Given the description of an element on the screen output the (x, y) to click on. 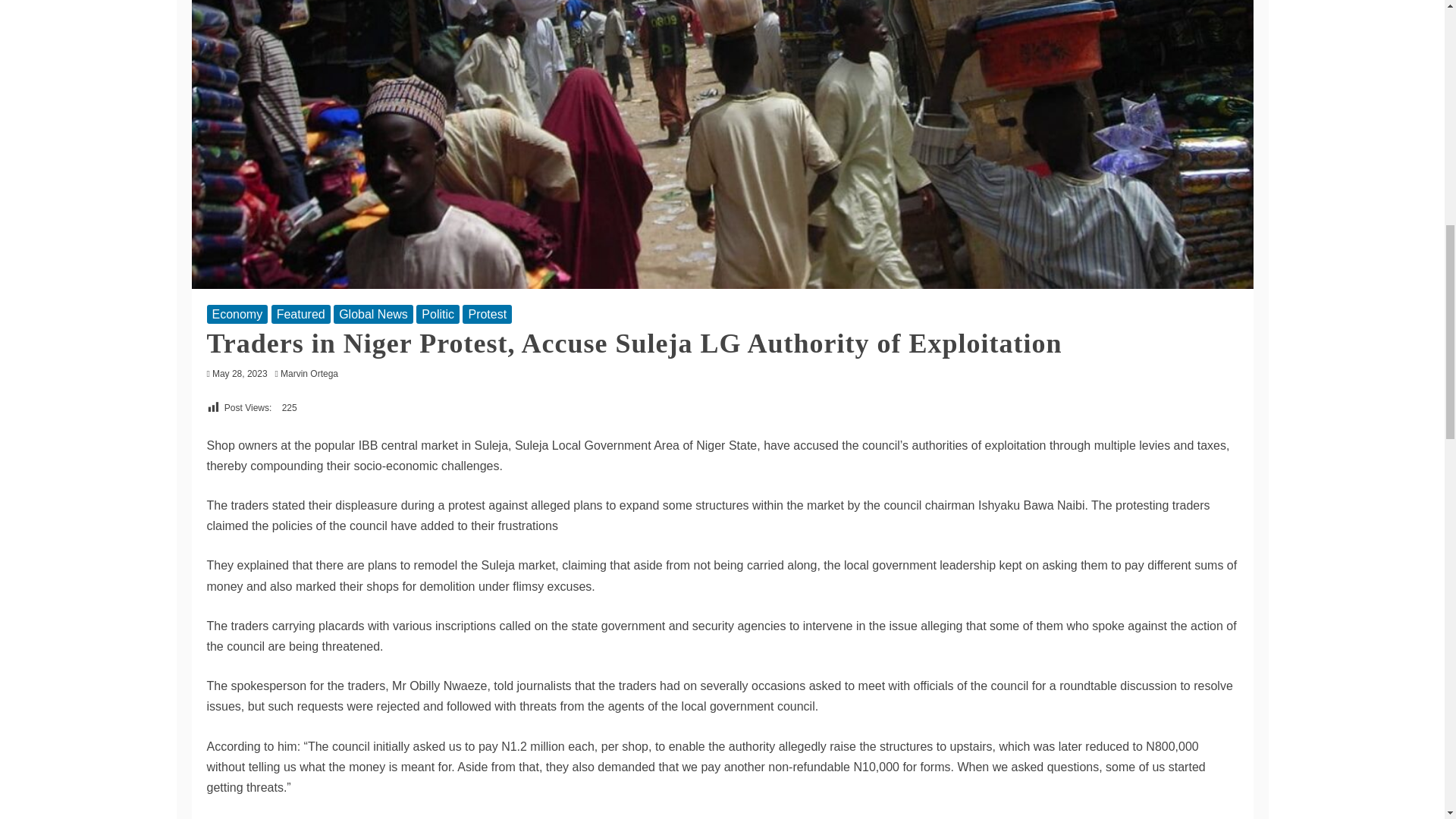
Marvin Ortega (313, 373)
Protest (487, 313)
Economy (236, 313)
Politic (438, 313)
Featured (300, 313)
Global News (373, 313)
May 28, 2023 (239, 373)
